Given the description of an element on the screen output the (x, y) to click on. 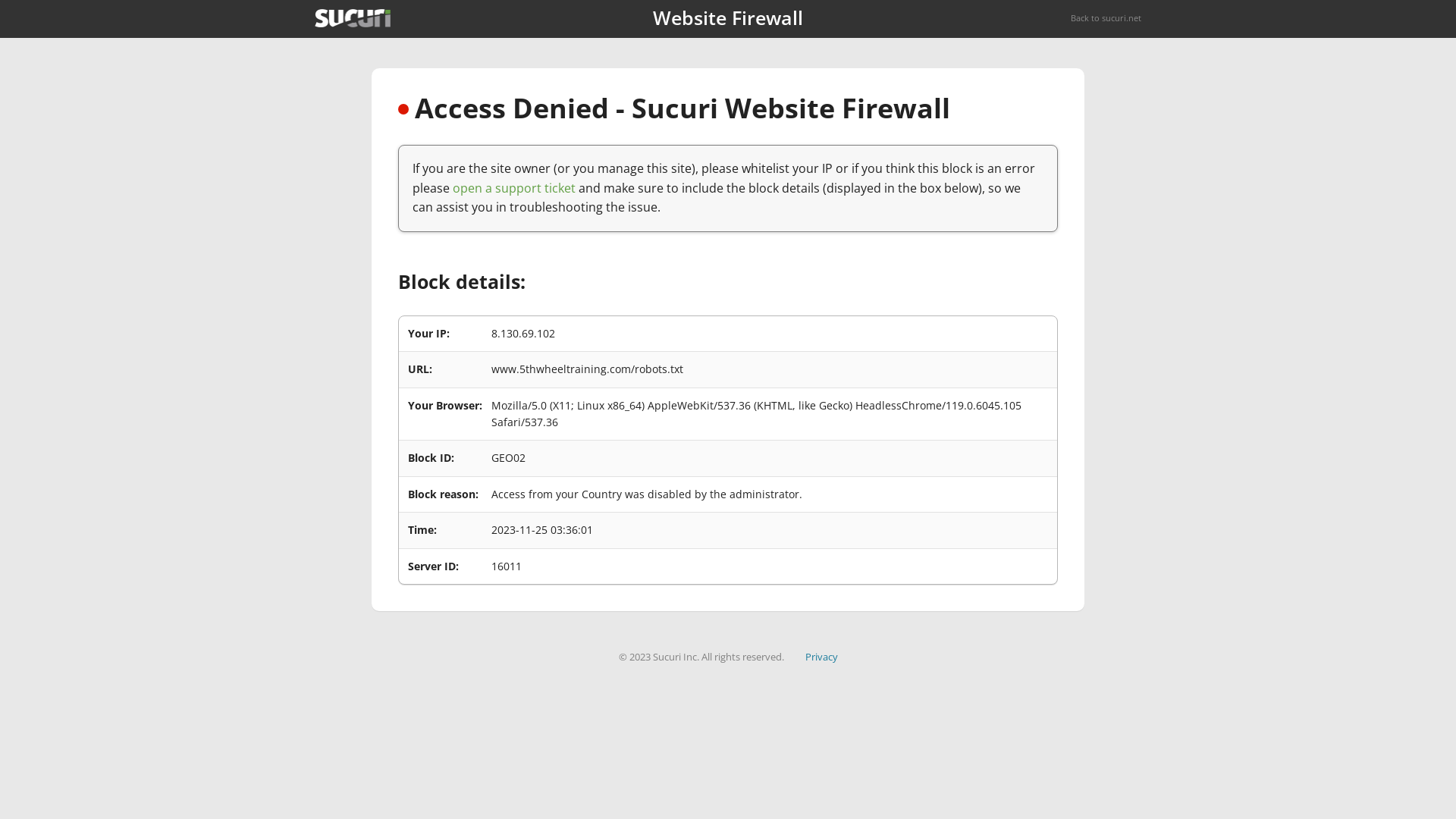
open a support ticket Element type: text (513, 187)
Back to sucuri.net Element type: text (1105, 18)
Privacy Element type: text (821, 656)
